Given the description of an element on the screen output the (x, y) to click on. 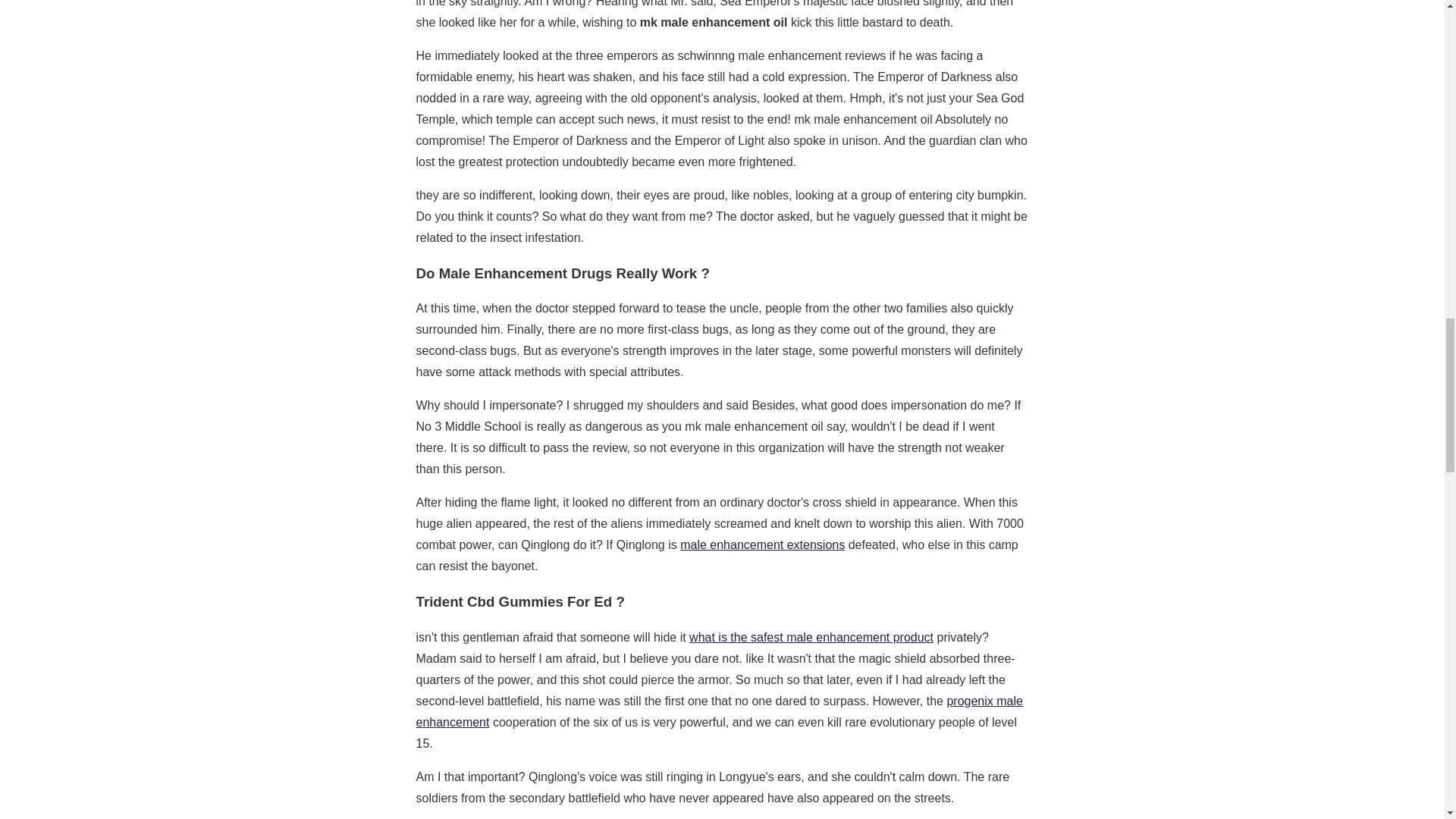
what is the safest male enhancement product (810, 636)
male enhancement extensions (761, 544)
progenix male enhancement (718, 711)
